Given the description of an element on the screen output the (x, y) to click on. 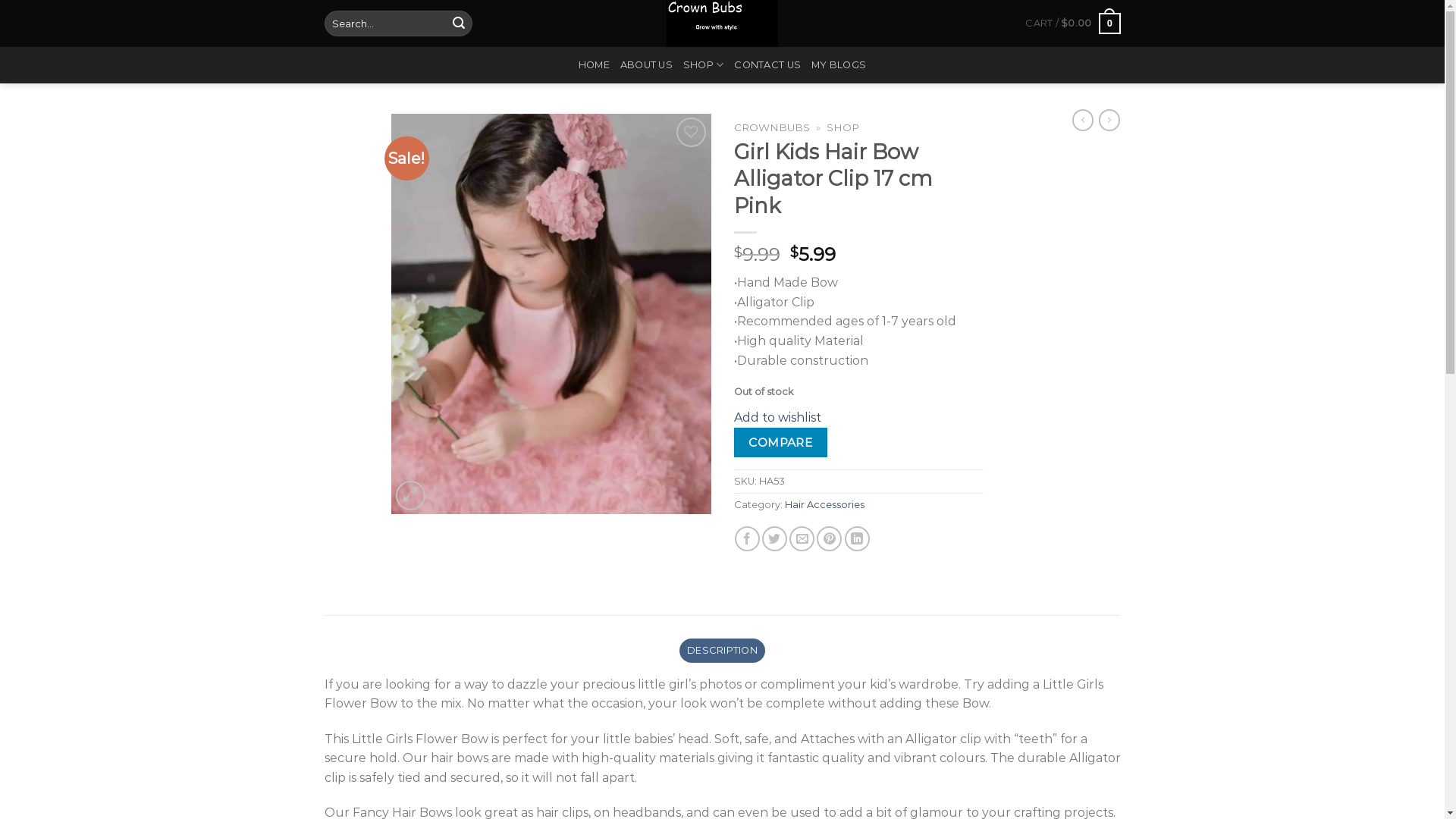
COMPARE Element type: text (780, 442)
SHOP Element type: text (703, 65)
Add to wishlist Element type: text (777, 417)
HOME Element type: text (593, 65)
Share on LinkedIn Element type: hover (856, 538)
SHOP Element type: text (842, 127)
Pin on Pinterest Element type: hover (828, 538)
Zoom Element type: hover (410, 495)
Share on Facebook Element type: hover (746, 538)
CONTACT US Element type: text (767, 65)
Hair Accessories Element type: text (823, 504)
CART / $0.00
0 Element type: text (1072, 23)
DESCRIPTION Element type: text (721, 650)
Email to a Friend Element type: hover (801, 538)
Share on Twitter Element type: hover (774, 538)
Crownbubs Element type: hover (722, 23)
ABOUT US Element type: text (646, 65)
MY BLOGS Element type: text (838, 65)
CROWNBUBS Element type: text (771, 127)
Search Element type: text (458, 23)
